Given the description of an element on the screen output the (x, y) to click on. 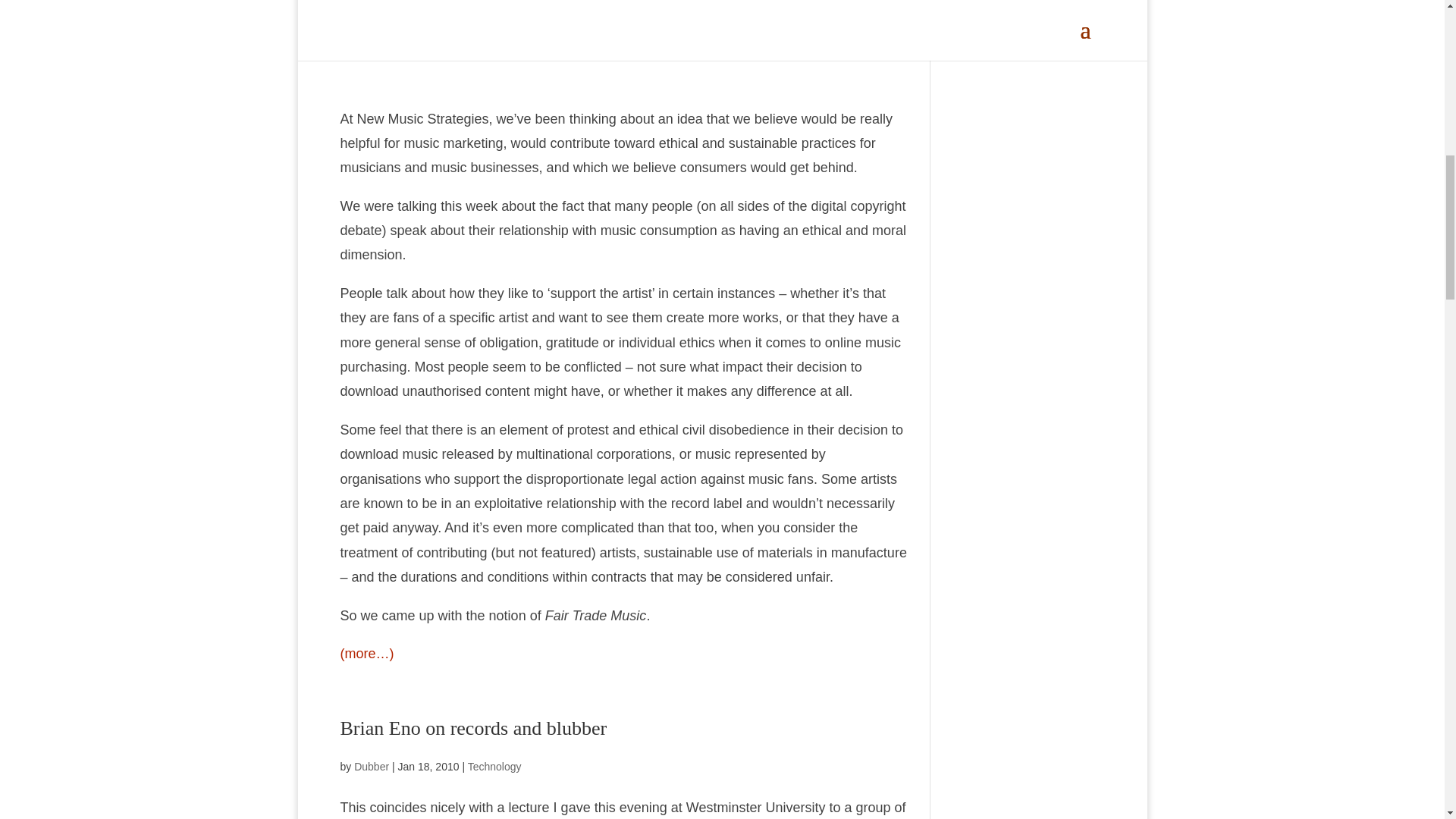
Fair trade music (403, 6)
Posts by Dubber (370, 39)
Brian Eno on records and blubber (473, 728)
Posts by Dubber (370, 766)
Analysis (488, 39)
Dubber (370, 39)
Technology (494, 766)
Dubber (370, 766)
Technology (540, 39)
